Given the description of an element on the screen output the (x, y) to click on. 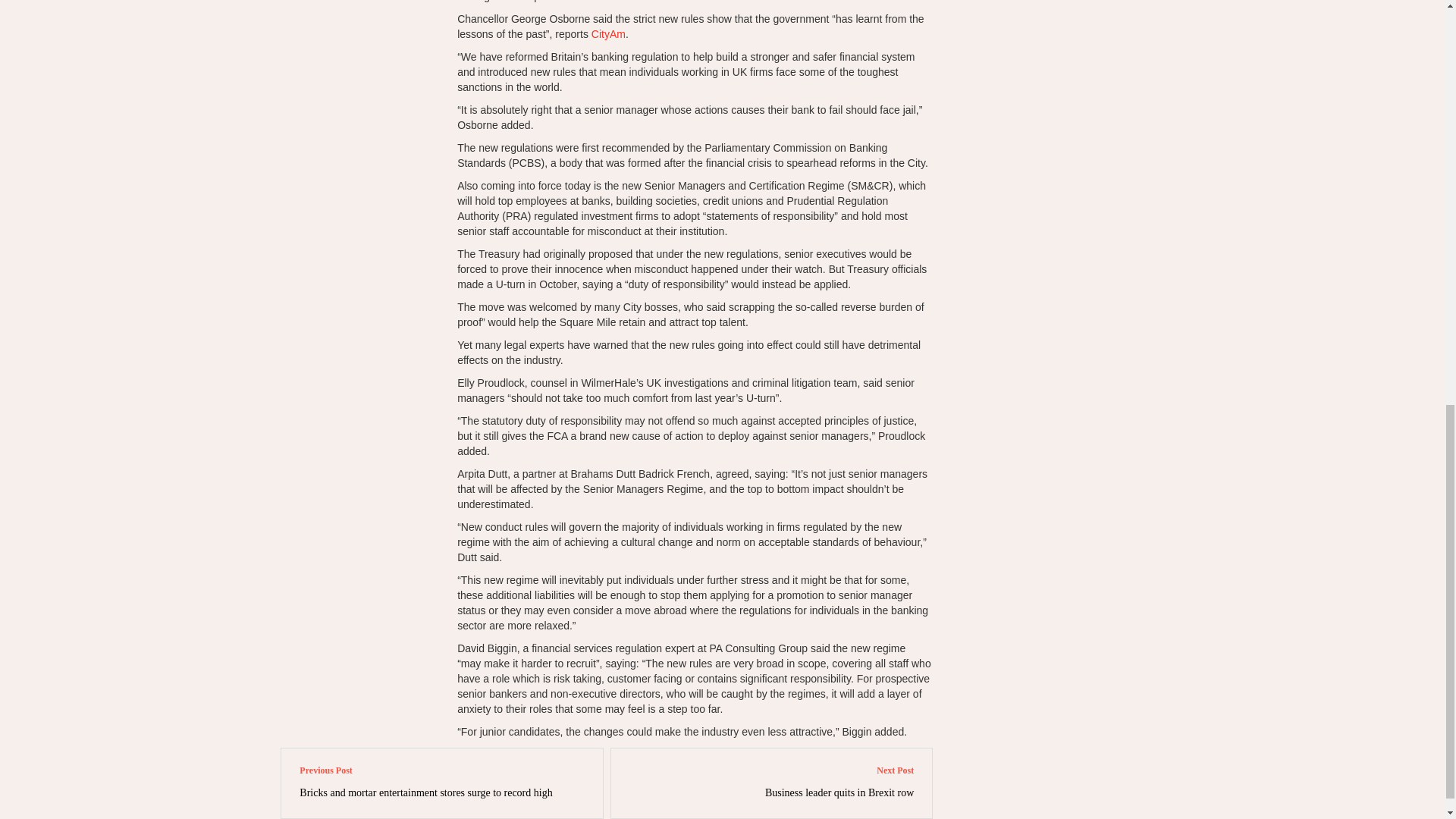
Business leader quits in Brexit row (839, 792)
Bricks and mortar entertainment stores surge to record high (425, 792)
CityAm (608, 33)
